Given the description of an element on the screen output the (x, y) to click on. 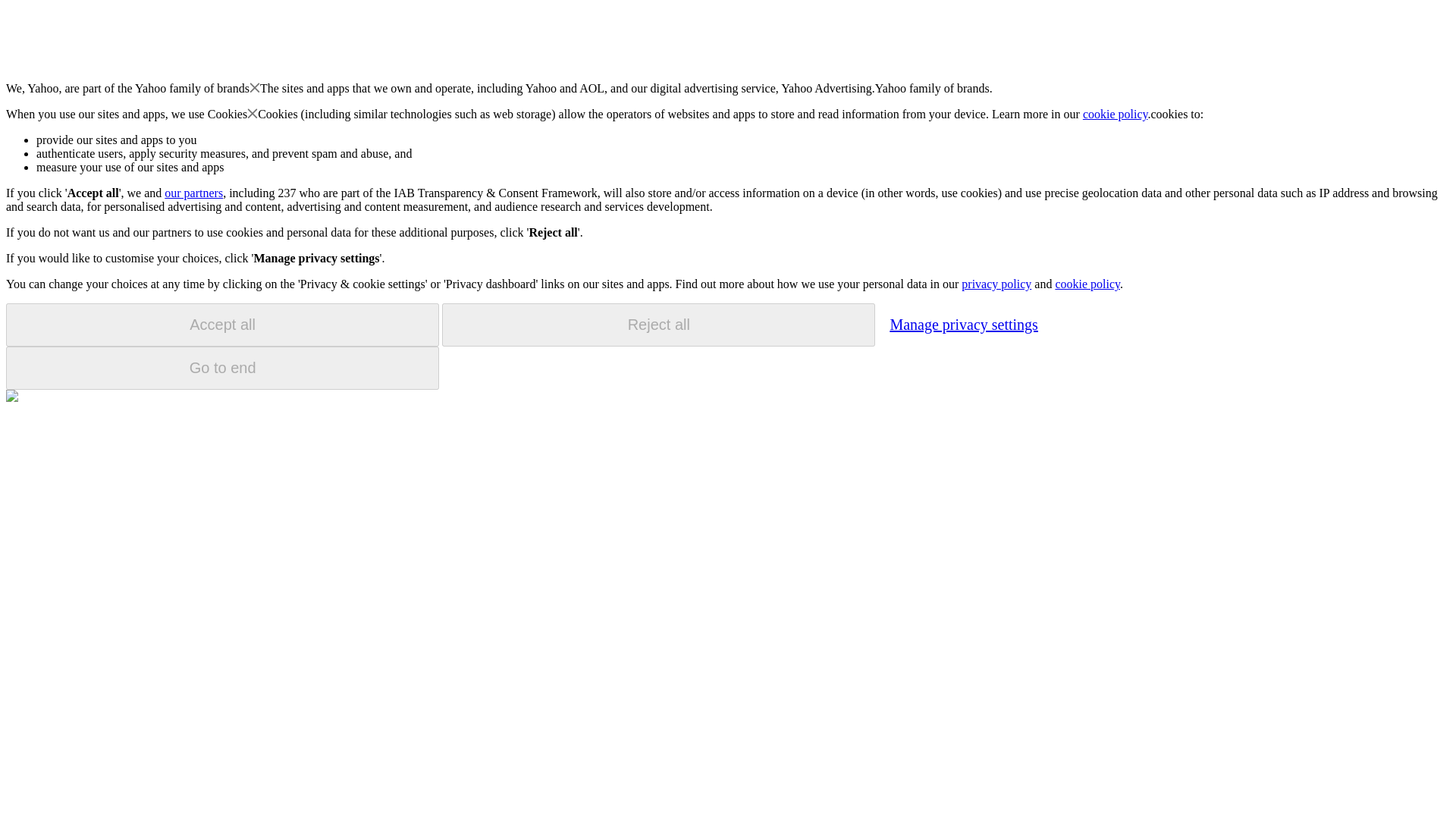
cookie policy (1086, 283)
Accept all (222, 324)
privacy policy (995, 283)
our partners (193, 192)
Manage privacy settings (963, 323)
Reject all (658, 324)
cookie policy (1115, 113)
Go to end (222, 367)
